Given the description of an element on the screen output the (x, y) to click on. 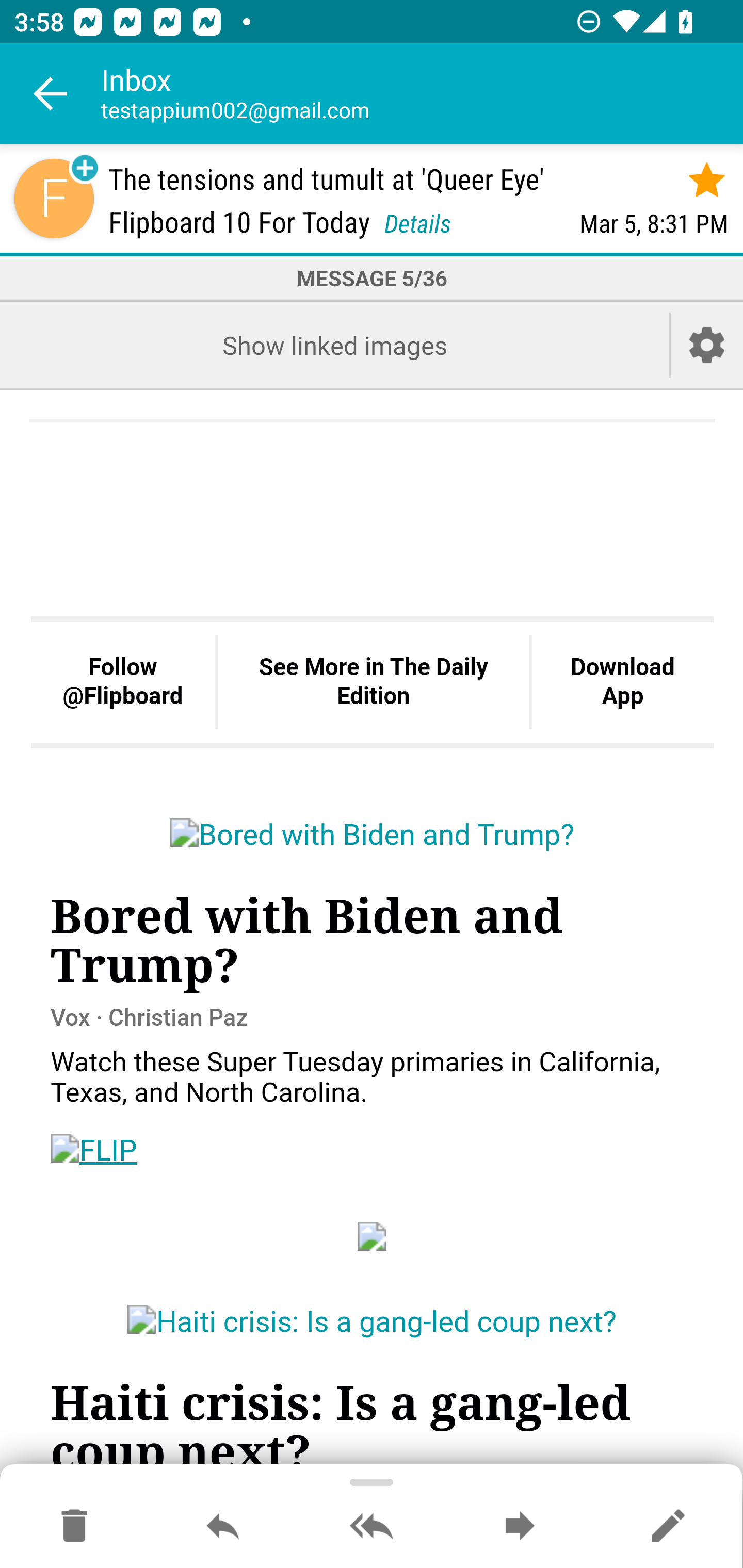
Navigate up (50, 93)
Inbox testappium002@gmail.com (422, 93)
Sender contact button (53, 198)
Show linked images (334, 344)
Account setup (706, 344)
Follow @Flipboard Follow  @Flipboard (122, 682)
See More in The Daily Edition (372, 682)
Download App (622, 682)
FLIP (93, 1150)
data: (372, 1235)
Move to Deleted (74, 1527)
Reply (222, 1527)
Reply all (371, 1527)
Forward (519, 1527)
Reply as new (667, 1527)
